Given the description of an element on the screen output the (x, y) to click on. 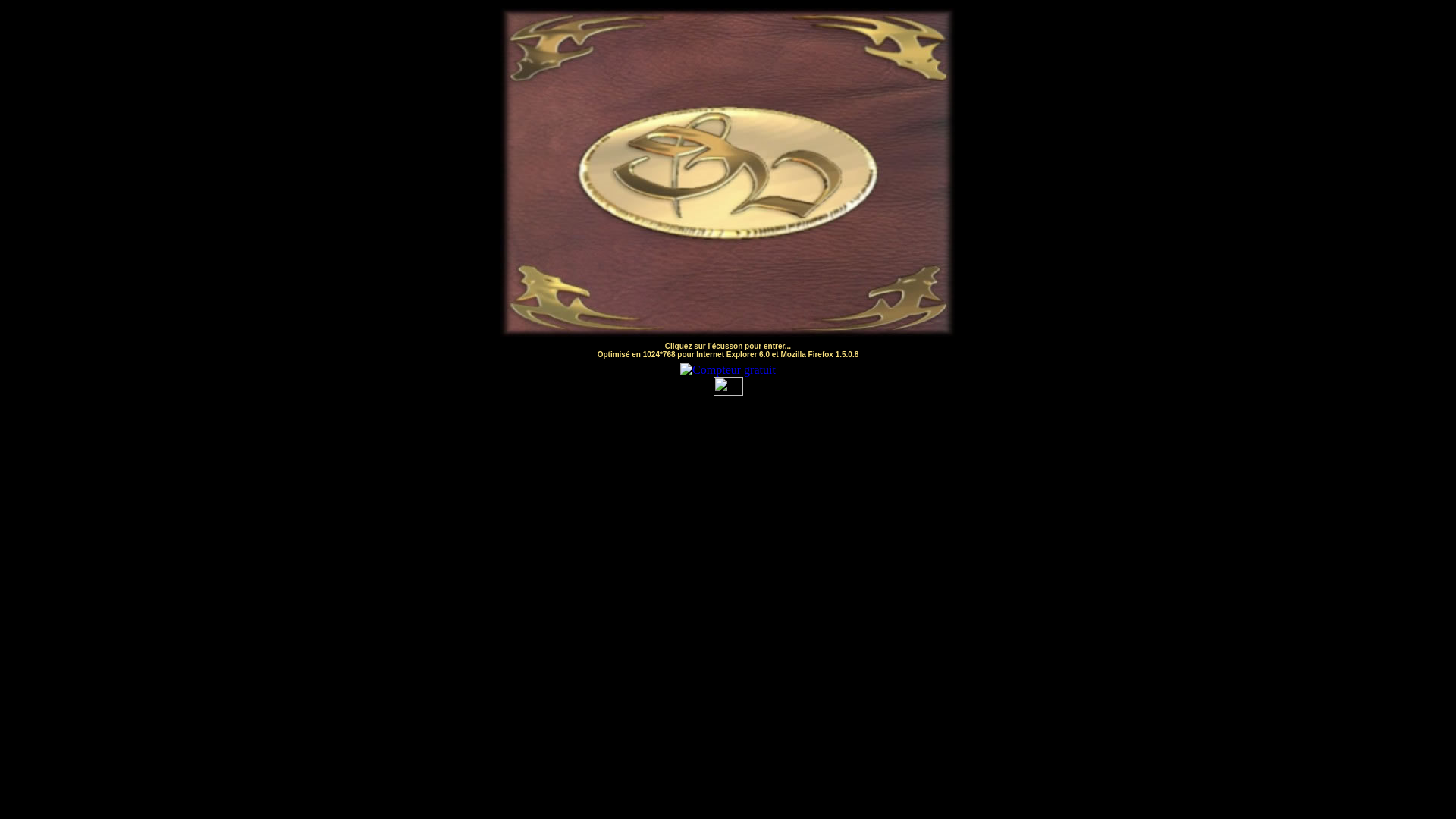
WebAnalytics Element type: hover (727, 391)
Compteur gratuit Element type: hover (727, 369)
Cliquez pour entrer Element type: hover (728, 169)
